Given the description of an element on the screen output the (x, y) to click on. 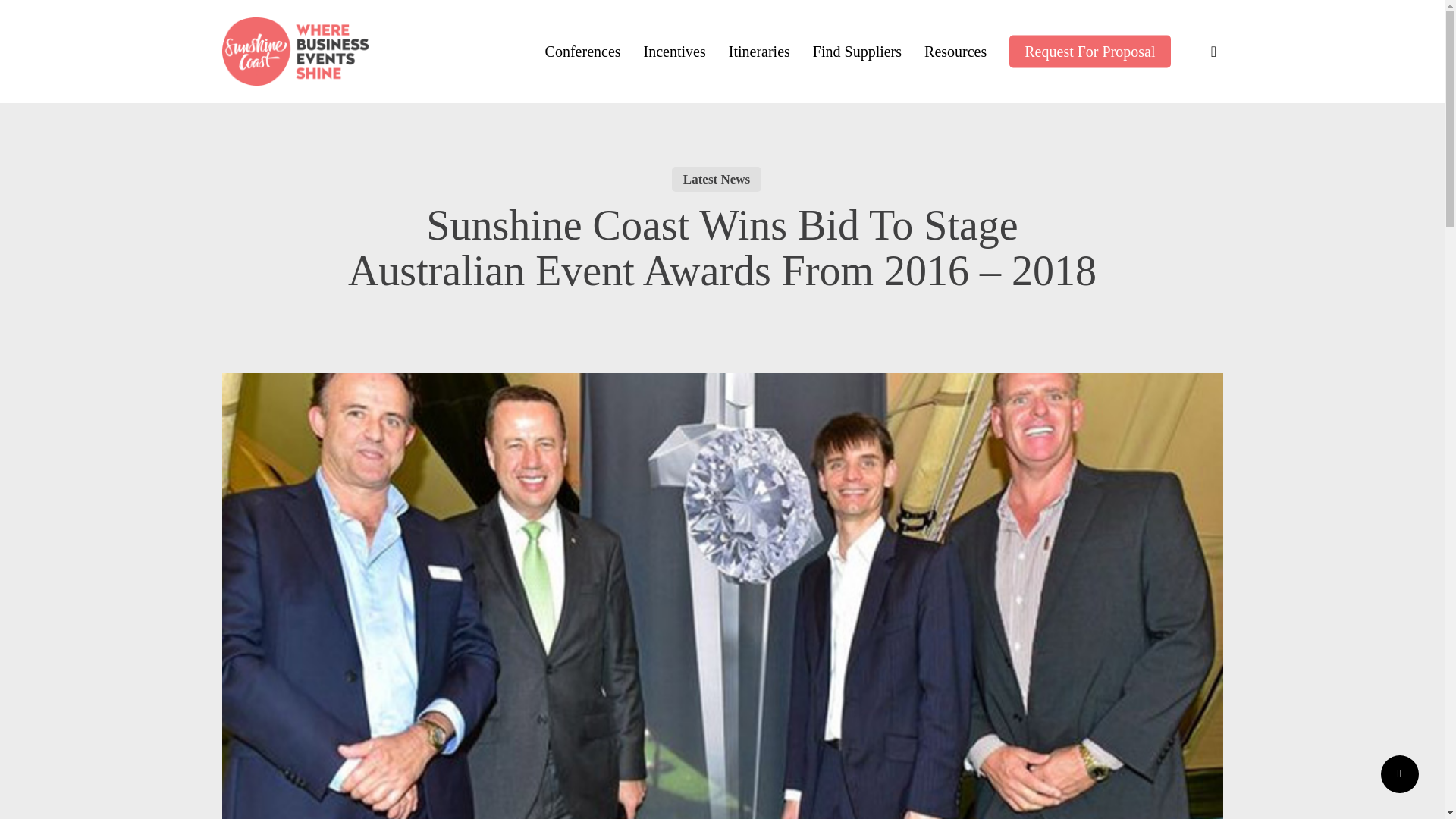
Itineraries (759, 51)
Resources (955, 51)
search (1213, 51)
Incentives (674, 51)
Request for Proposal (1089, 51)
Incentives (674, 51)
Find Suppliers (856, 51)
Conferences (582, 51)
Find Suppliers (856, 51)
Latest News (716, 179)
Request For Proposal (1089, 51)
